Given the description of an element on the screen output the (x, y) to click on. 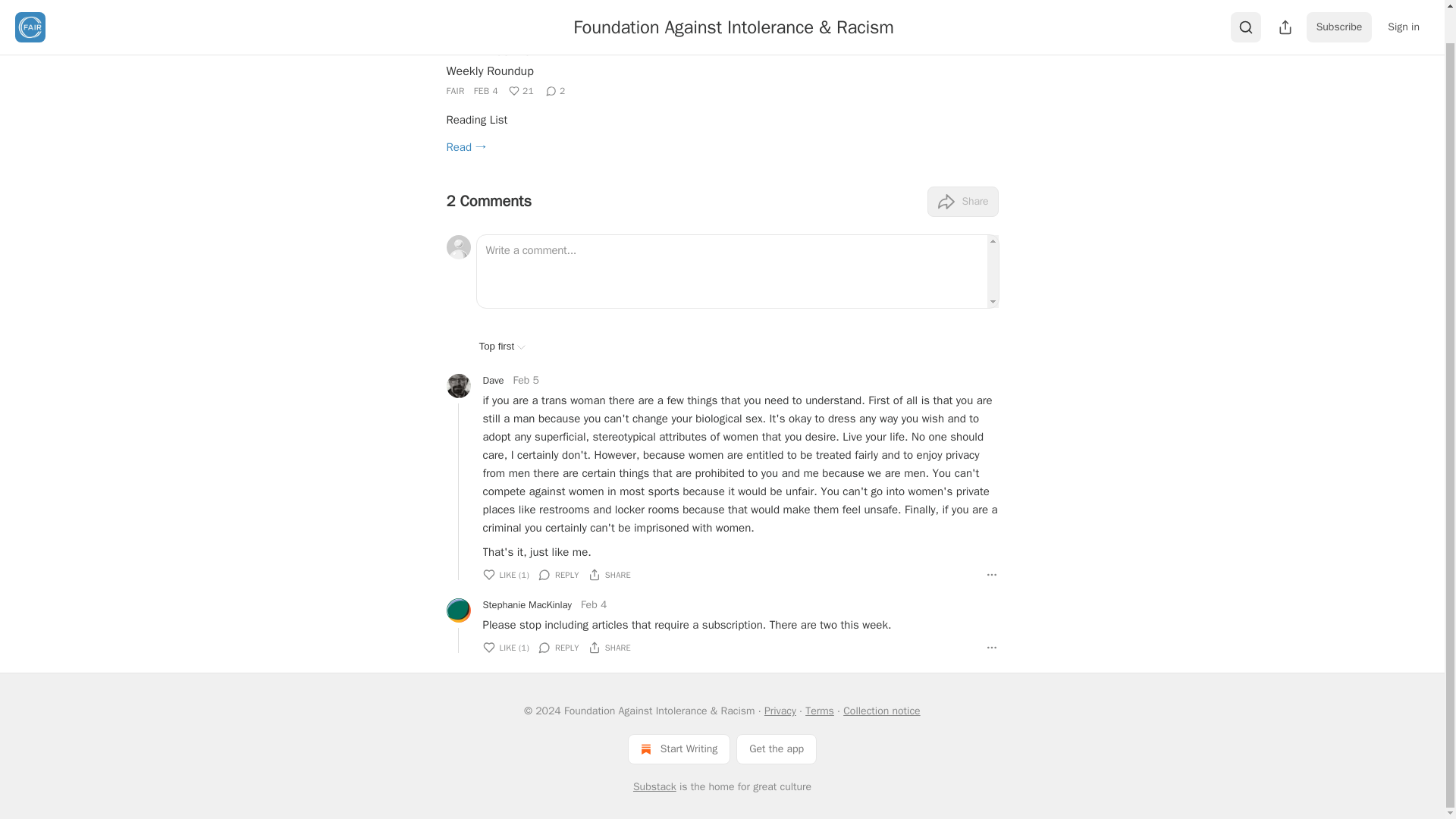
21 (520, 90)
Subscribe (1339, 4)
REPLY (558, 647)
Top first (502, 346)
Feb 5 (525, 380)
WEEKLY ROUNDUP (491, 52)
2024-02-04T12:00:55.837Z (485, 90)
Stephanie MacKinlay (525, 604)
Weekly Roundup (488, 70)
2 (555, 90)
REPLY (558, 574)
Dave (492, 380)
Sign in (1403, 4)
Feb 4 (593, 604)
Share (962, 201)
